Given the description of an element on the screen output the (x, y) to click on. 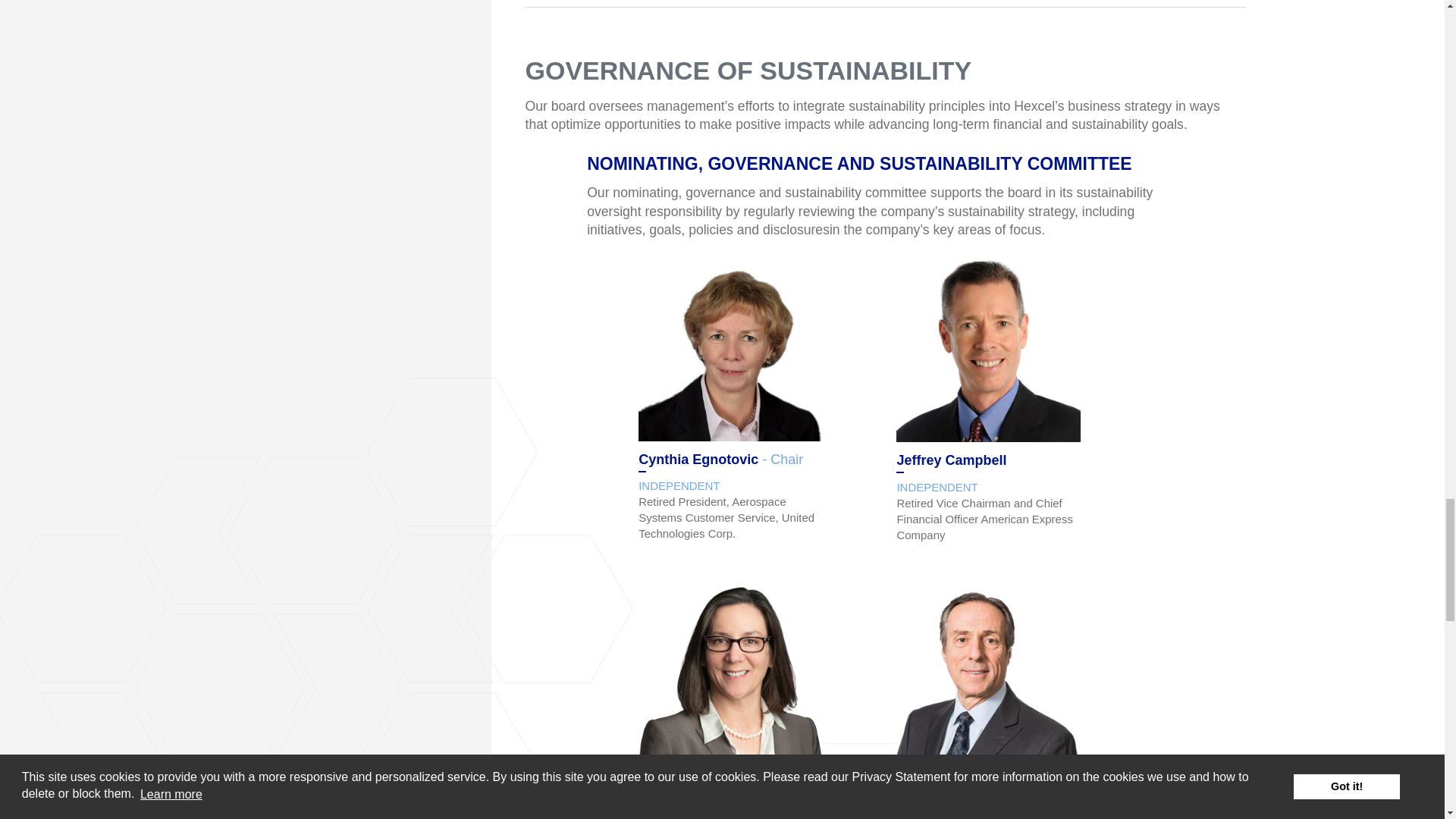
Jeffrey Campbell (988, 350)
Cynthia Egnotovic (730, 349)
Dr. Patricia A. Hubbard (730, 677)
Guy C. Hachey (988, 673)
